Given the description of an element on the screen output the (x, y) to click on. 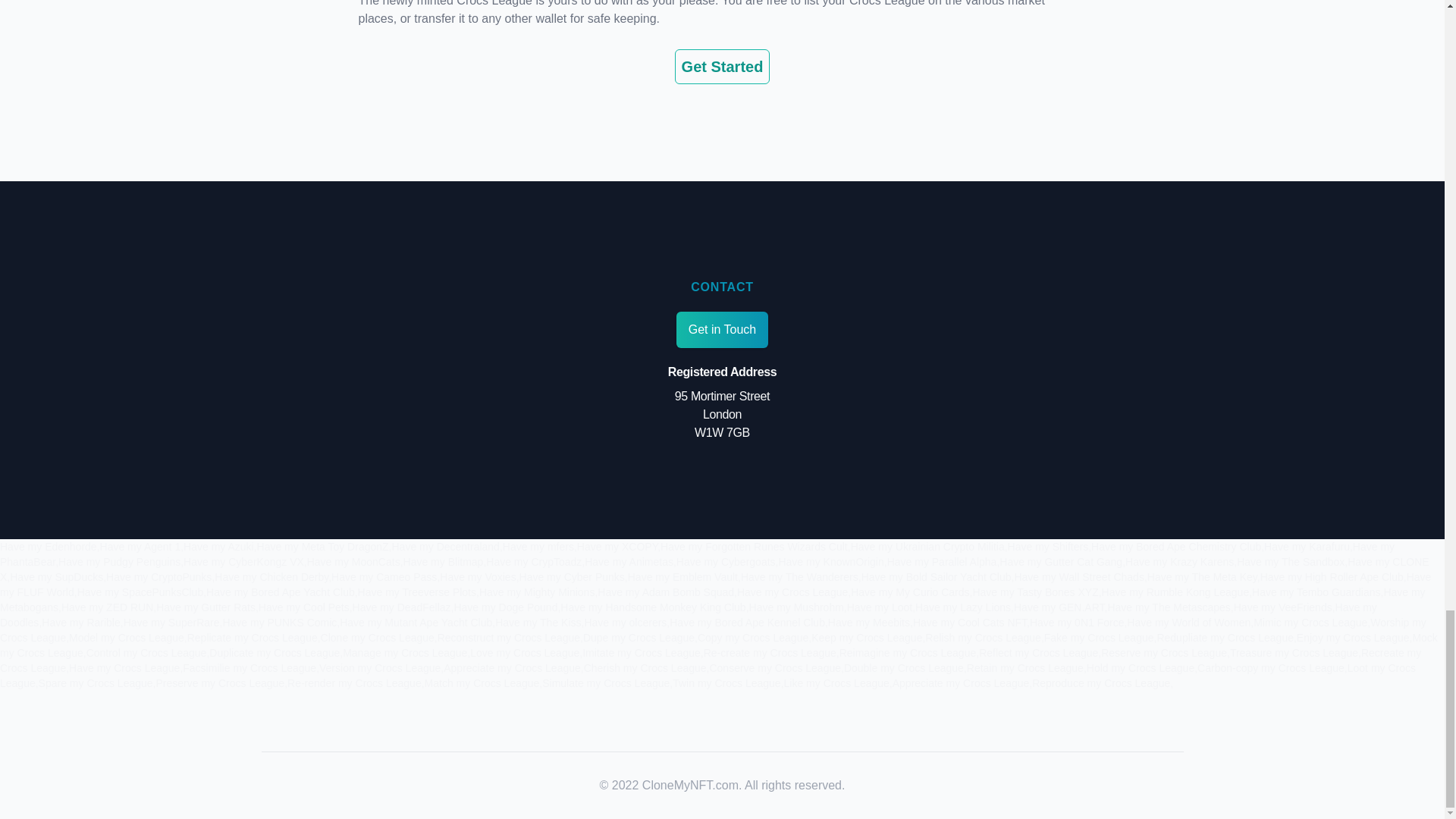
Have my Cybergoats (726, 562)
Have my MoonCats (353, 562)
Have my Edenhorde (48, 546)
Have my KnownOrigin (830, 562)
Have my Ukrainian Crypto Militia (927, 546)
Have my XCOPY (617, 546)
Have my Meta Toy DragonZ (322, 546)
Have my Bored Ape Chemistry Club (1175, 546)
Have my Karafuru (1306, 546)
Get in Touch (722, 330)
